Given the description of an element on the screen output the (x, y) to click on. 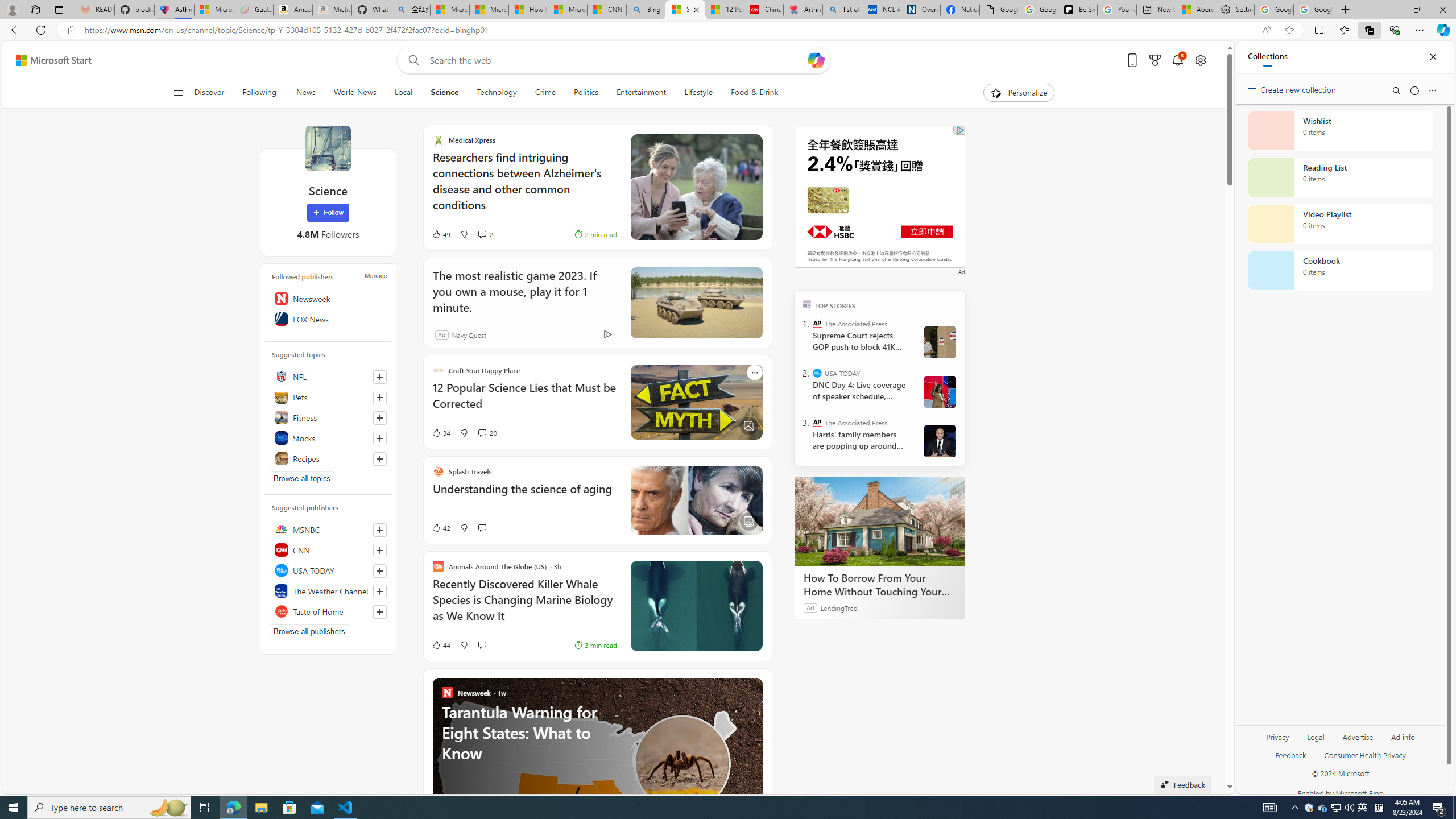
Lifestyle (697, 92)
Microsoft rewards (1154, 60)
Local (403, 92)
Follow this topic (379, 458)
Pets (327, 397)
Lifestyle (698, 92)
How To Borrow From Your Home Without Touching Your Mortgage (879, 521)
